Given the description of an element on the screen output the (x, y) to click on. 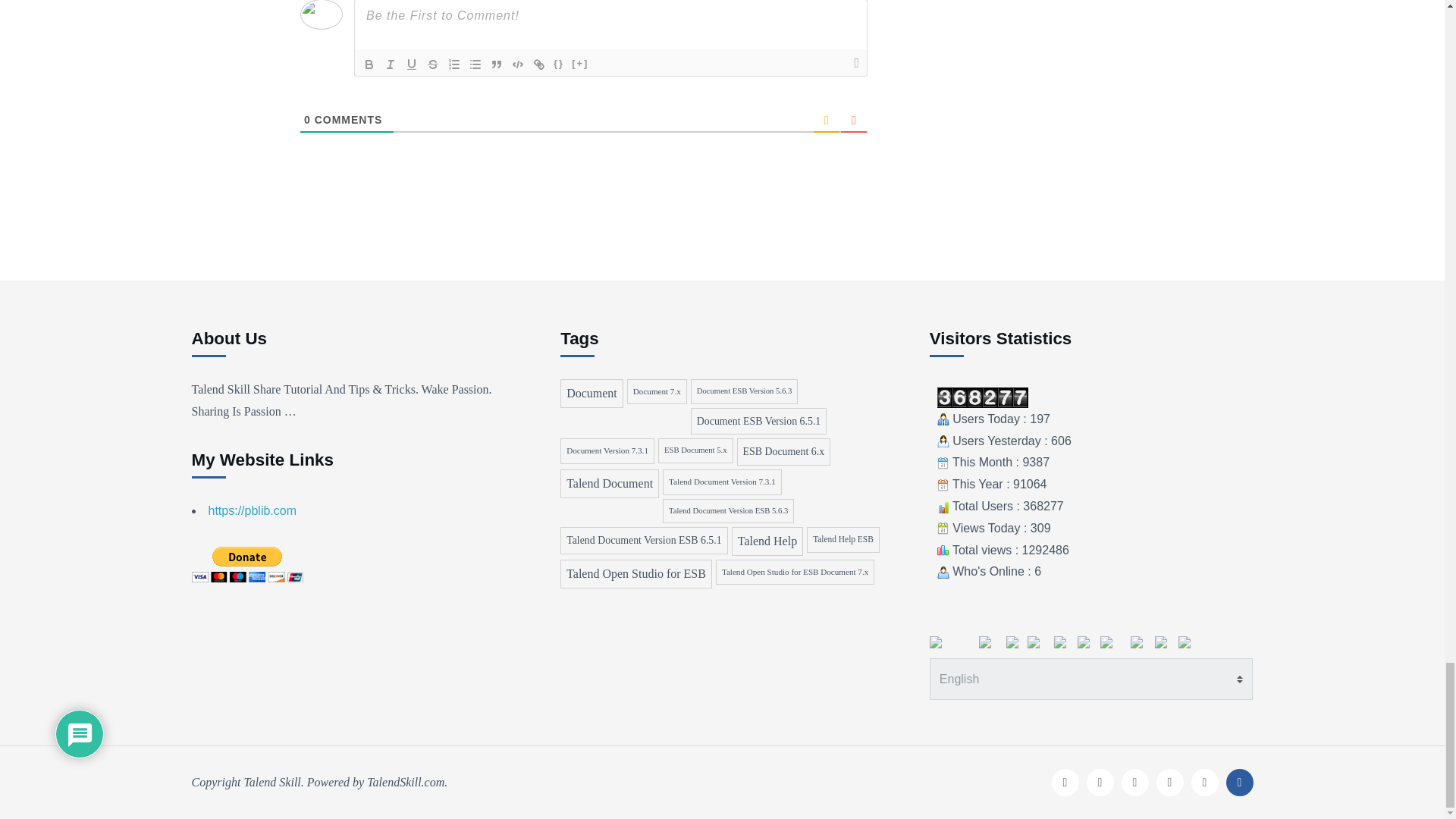
Ordered List (454, 64)
Unordered List (475, 64)
Blockquote (496, 64)
Italic (390, 64)
Bold (369, 64)
Underline (411, 64)
Strike (433, 64)
Code Block (517, 64)
